Given the description of an element on the screen output the (x, y) to click on. 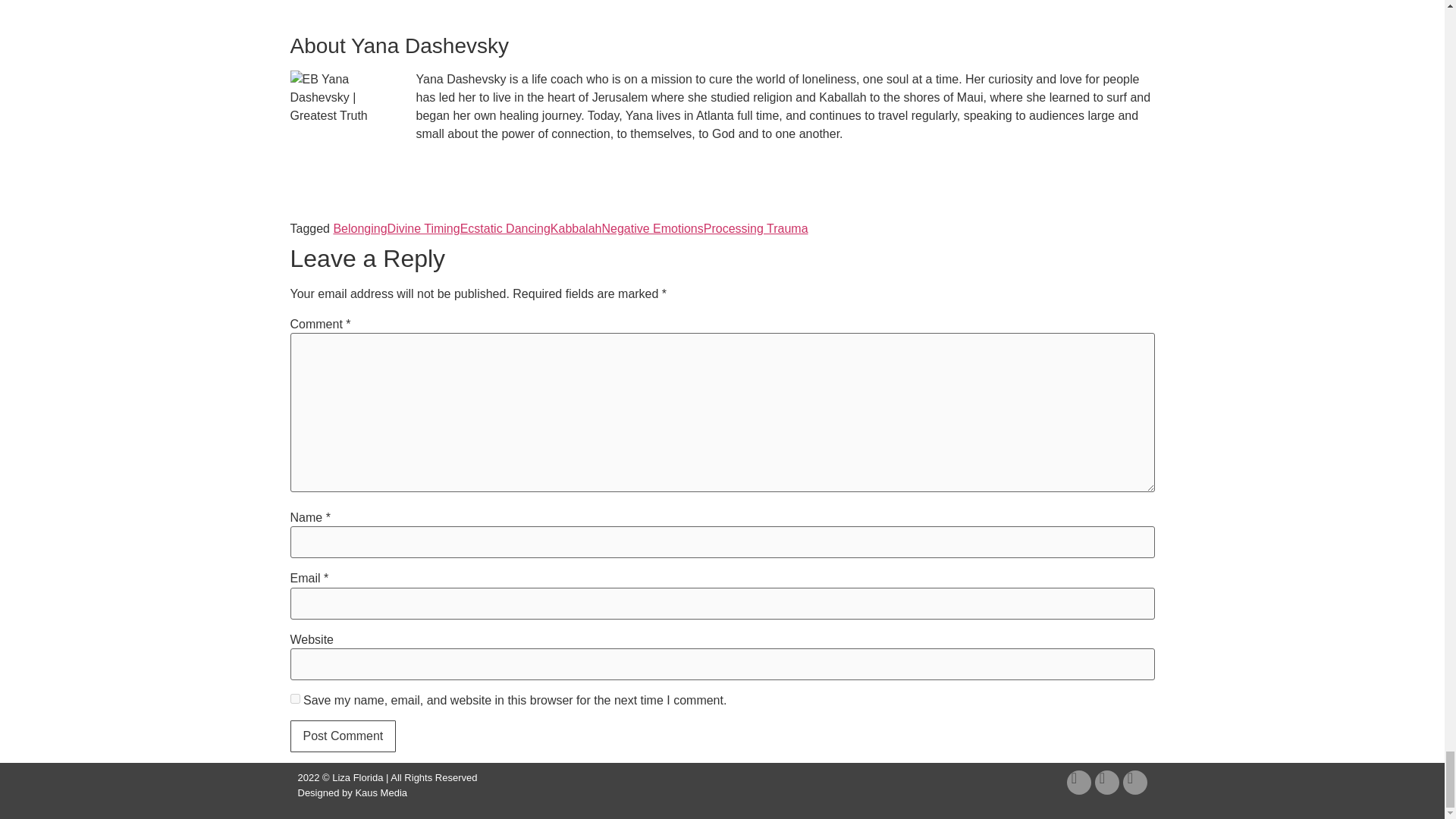
yes (294, 698)
Post Comment (342, 736)
